Given the description of an element on the screen output the (x, y) to click on. 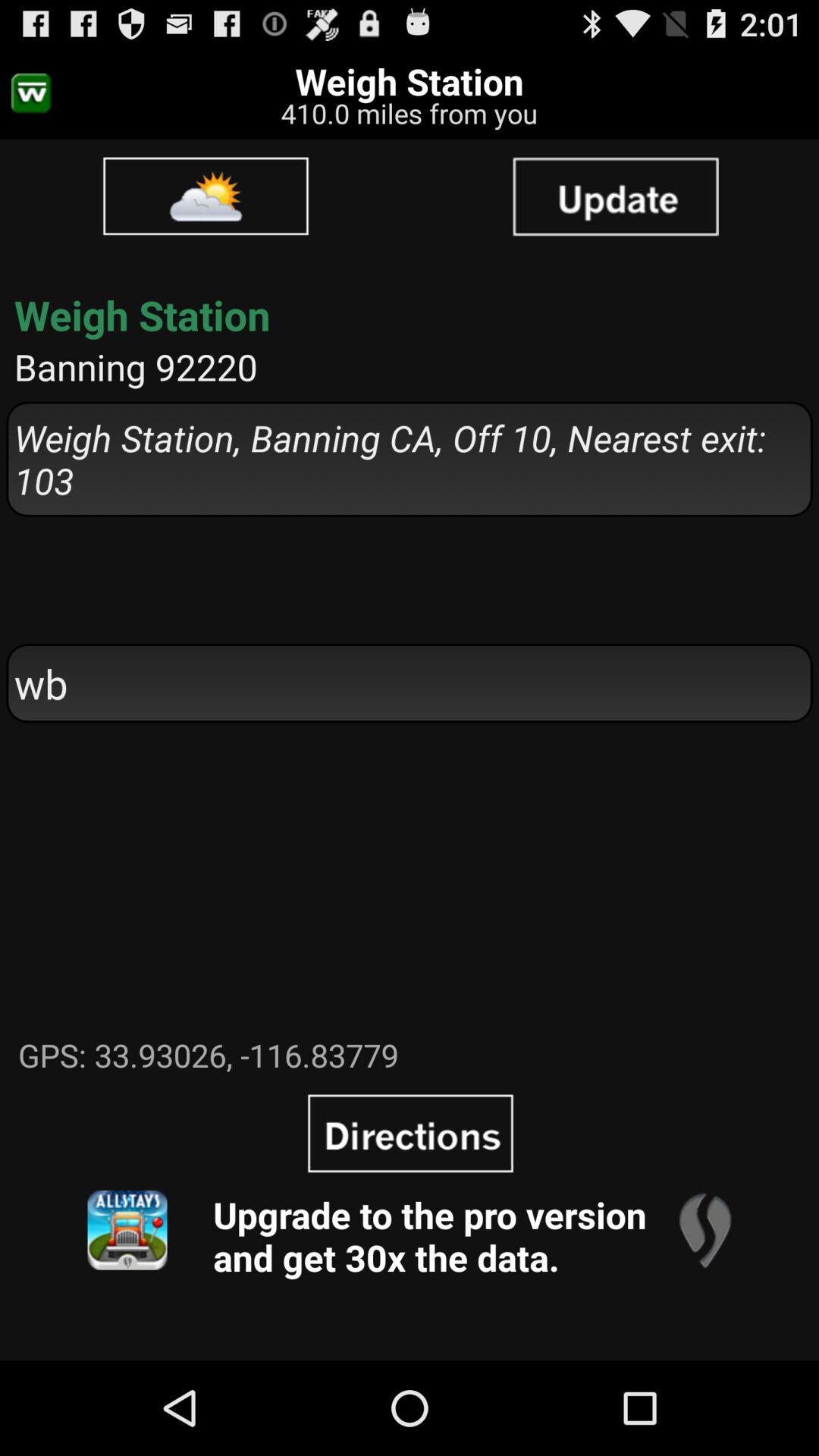
click item above weigh station icon (205, 196)
